Given the description of an element on the screen output the (x, y) to click on. 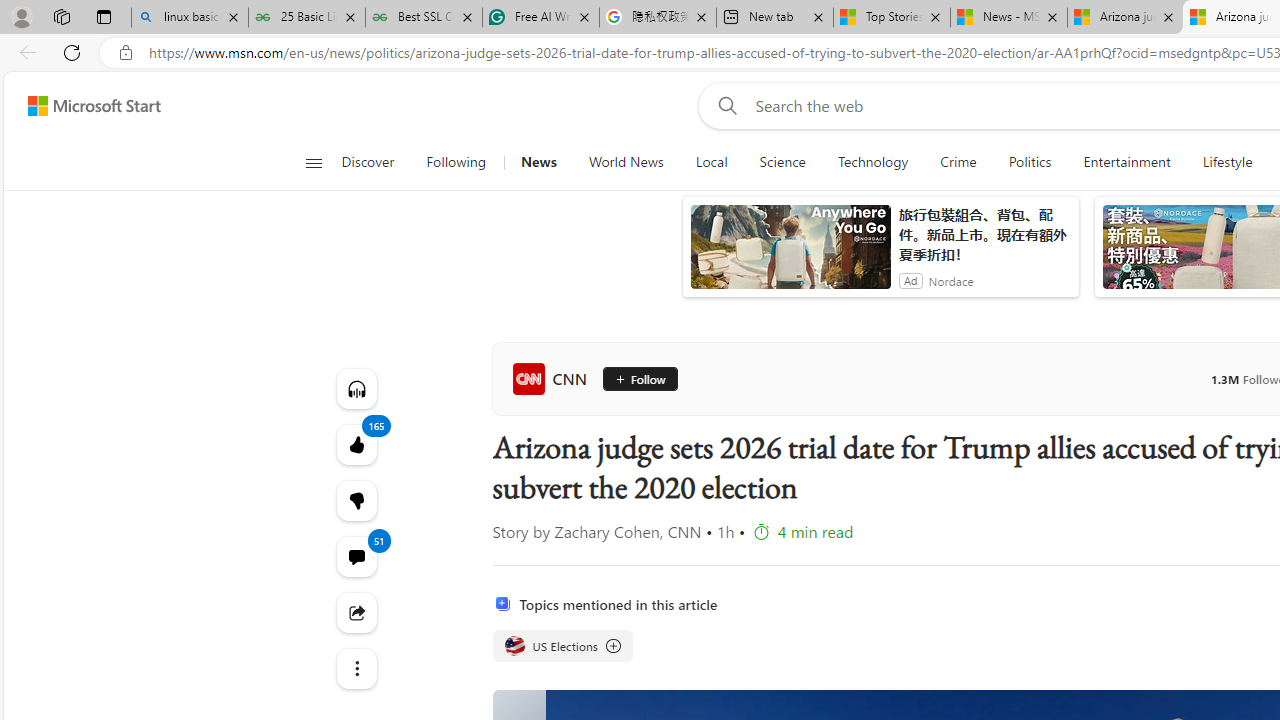
World News (625, 162)
Top Stories - MSN (891, 17)
Science (781, 162)
Skip to footer (82, 105)
Best SSL Certificates Provider in India - GeeksforGeeks (424, 17)
Class: at-item (356, 668)
Local (710, 162)
anim-content (789, 255)
Share this story (356, 612)
